Given the description of an element on the screen output the (x, y) to click on. 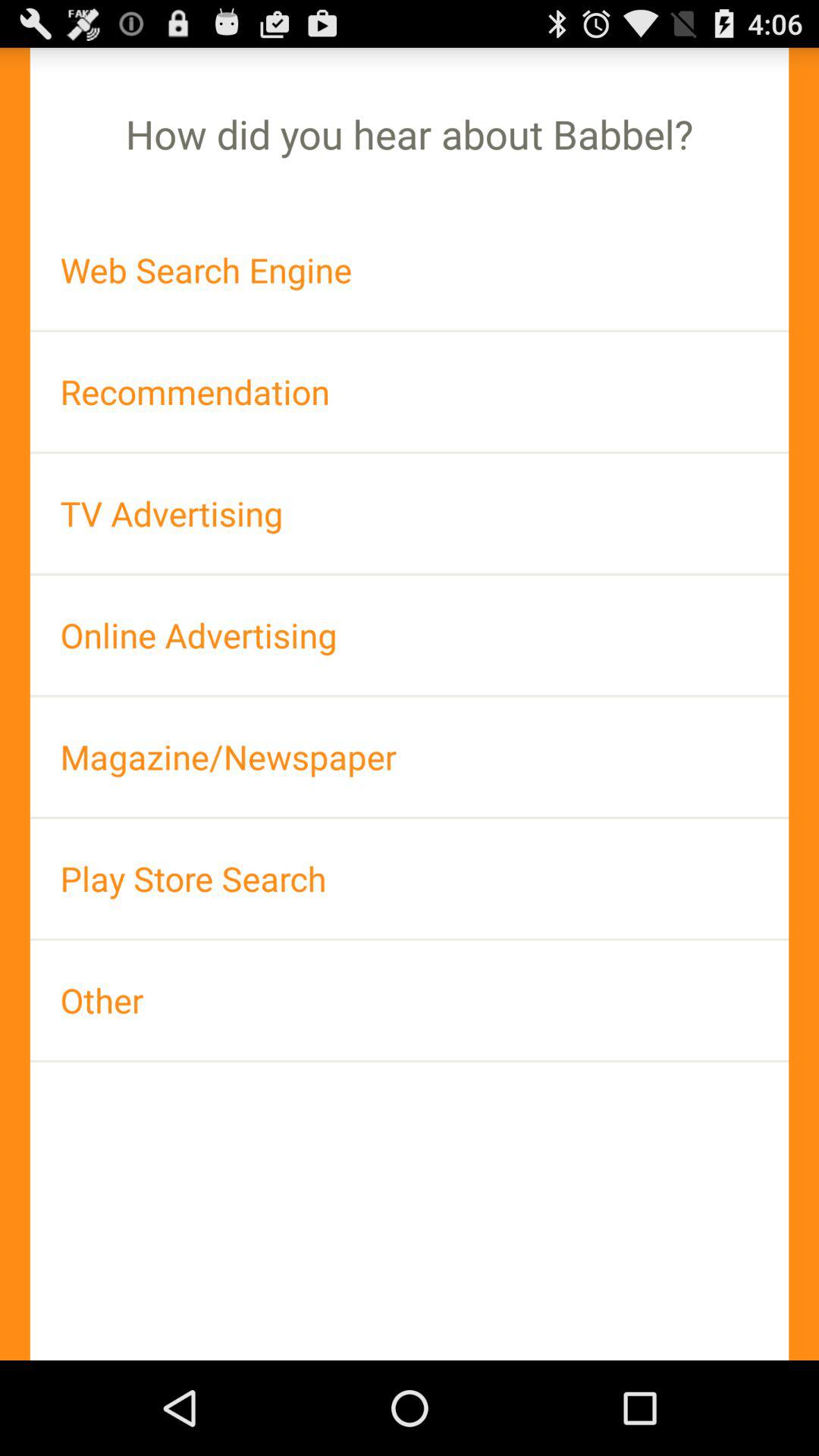
select the web search engine app (409, 269)
